Given the description of an element on the screen output the (x, y) to click on. 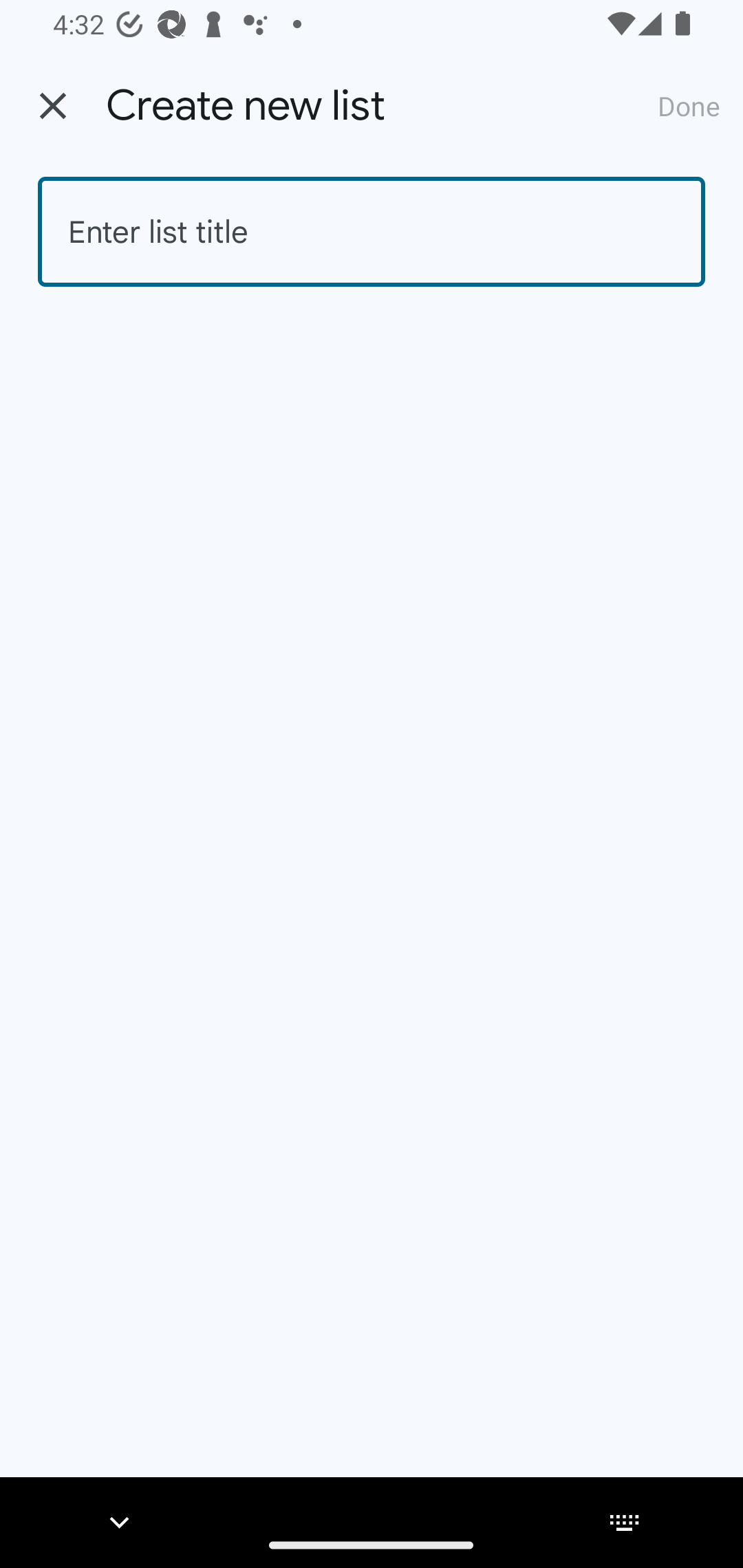
Back (53, 105)
Done (689, 105)
Enter list title (371, 231)
